Given the description of an element on the screen output the (x, y) to click on. 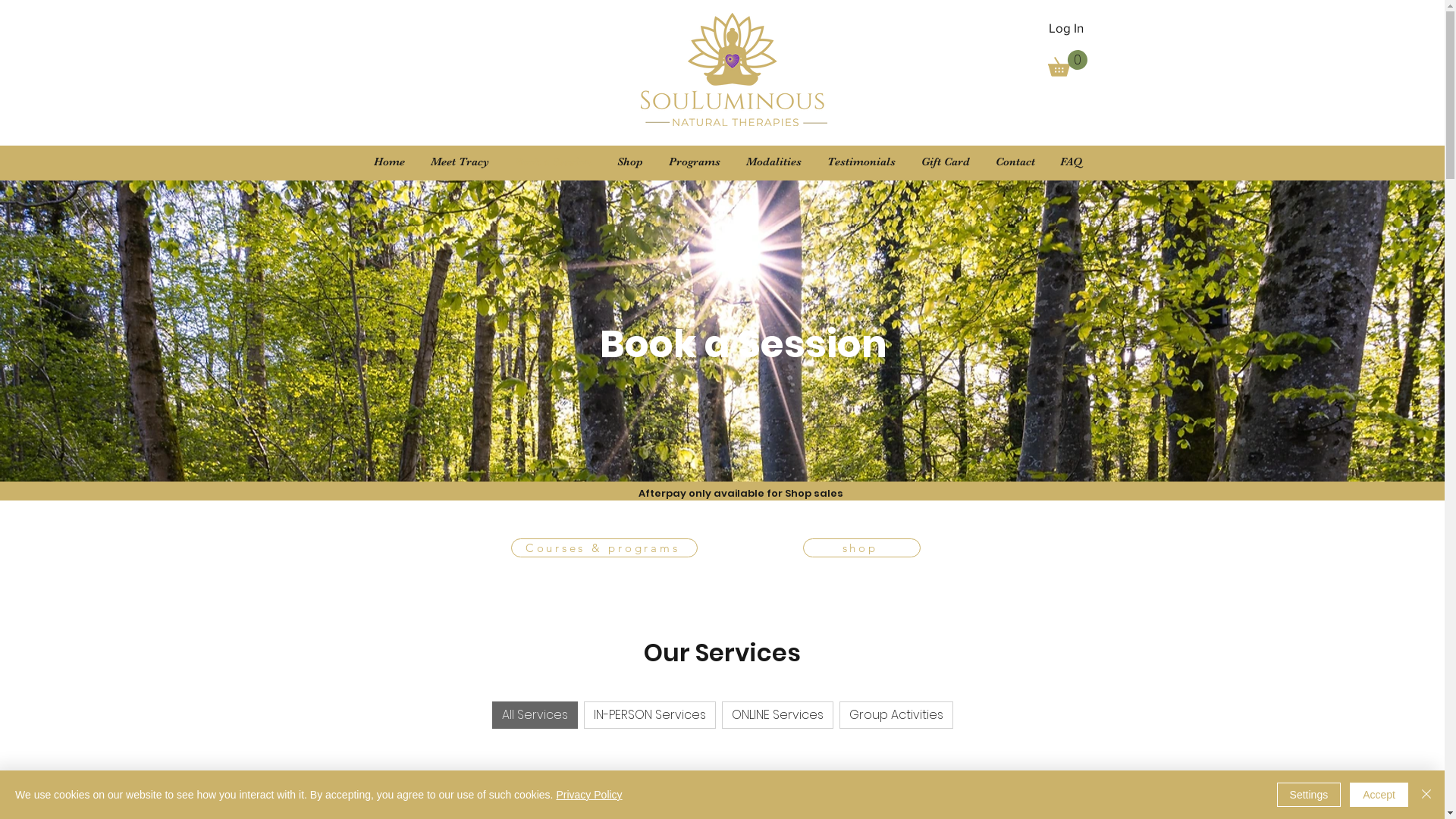
Gift Card Element type: text (945, 161)
Shop Element type: text (629, 161)
Courses & programs Element type: text (604, 547)
Modalities Element type: text (772, 161)
Settings Element type: text (1309, 794)
Book a Session Element type: text (553, 161)
Contact Element type: text (1015, 161)
shop Element type: text (860, 547)
Log In Element type: text (1065, 27)
Meet Tracy Element type: text (459, 161)
Home Element type: text (388, 161)
Programs Element type: text (693, 161)
Testimonials Element type: text (861, 161)
0 Element type: text (1067, 63)
Accept Element type: text (1378, 794)
FAQ Element type: text (1071, 161)
Privacy Policy Element type: text (588, 794)
